Given the description of an element on the screen output the (x, y) to click on. 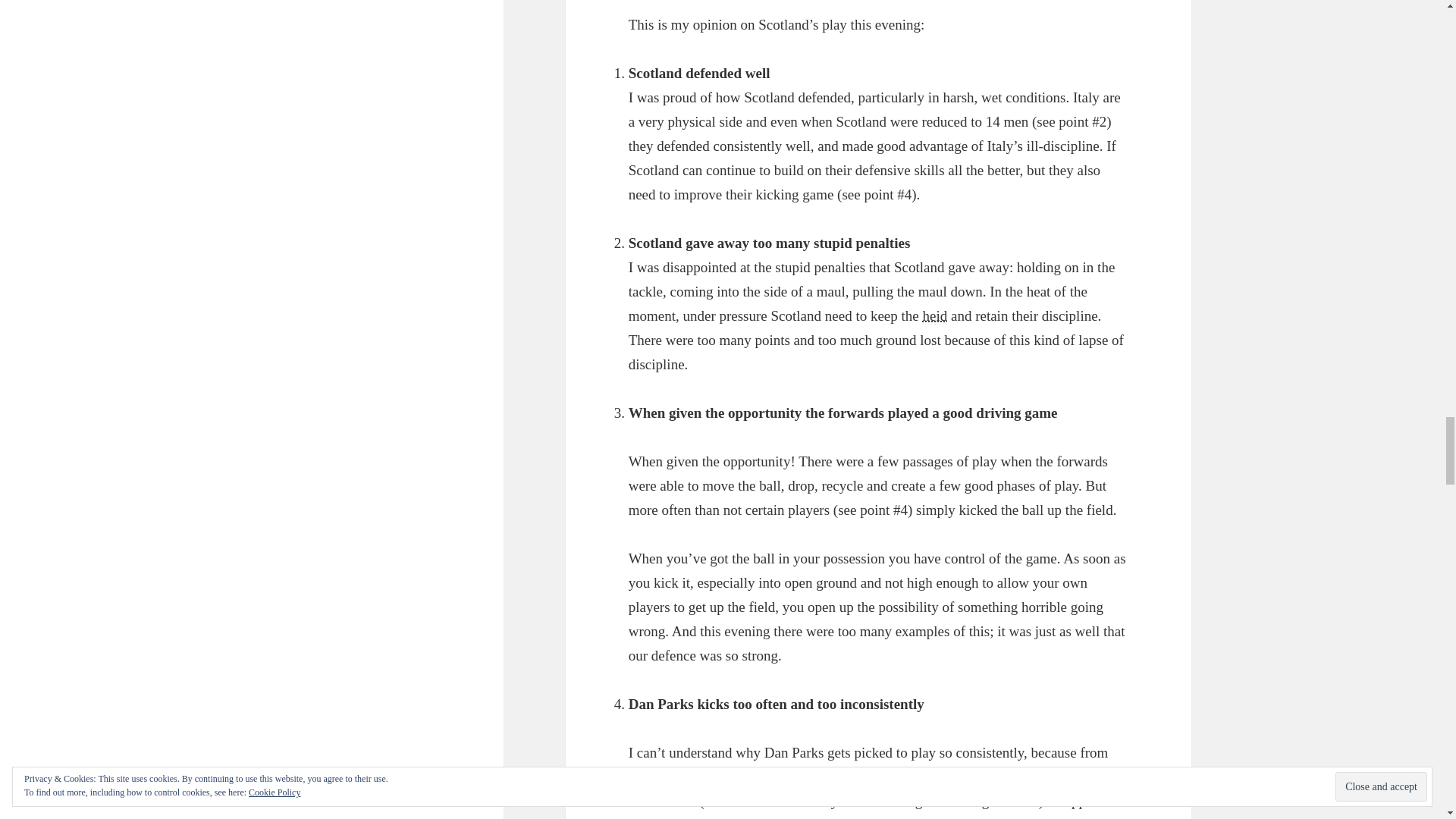
head (934, 315)
Dorothy Perkins (943, 777)
